Given the description of an element on the screen output the (x, y) to click on. 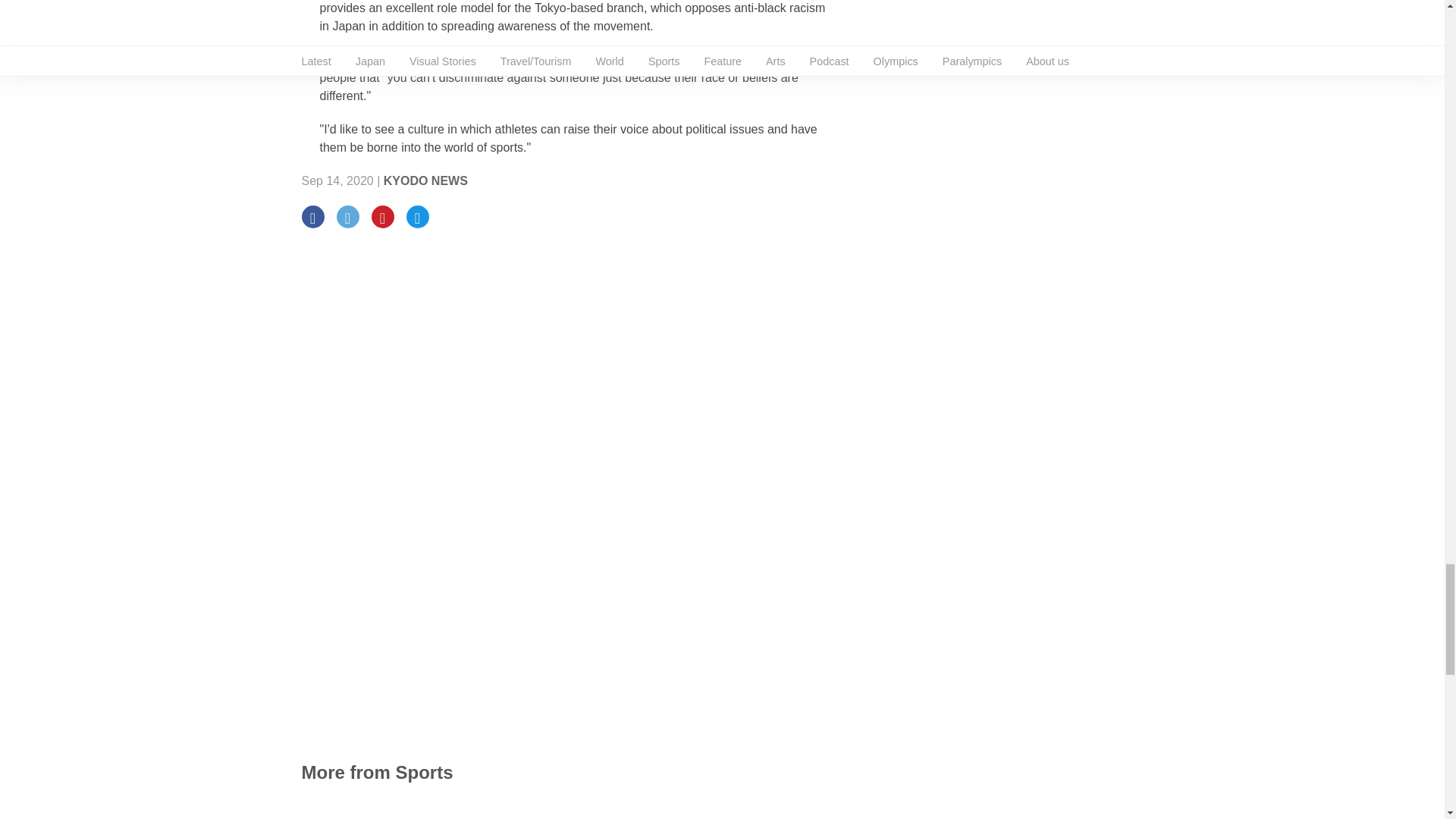
KYODO NEWS (425, 180)
